Given the description of an element on the screen output the (x, y) to click on. 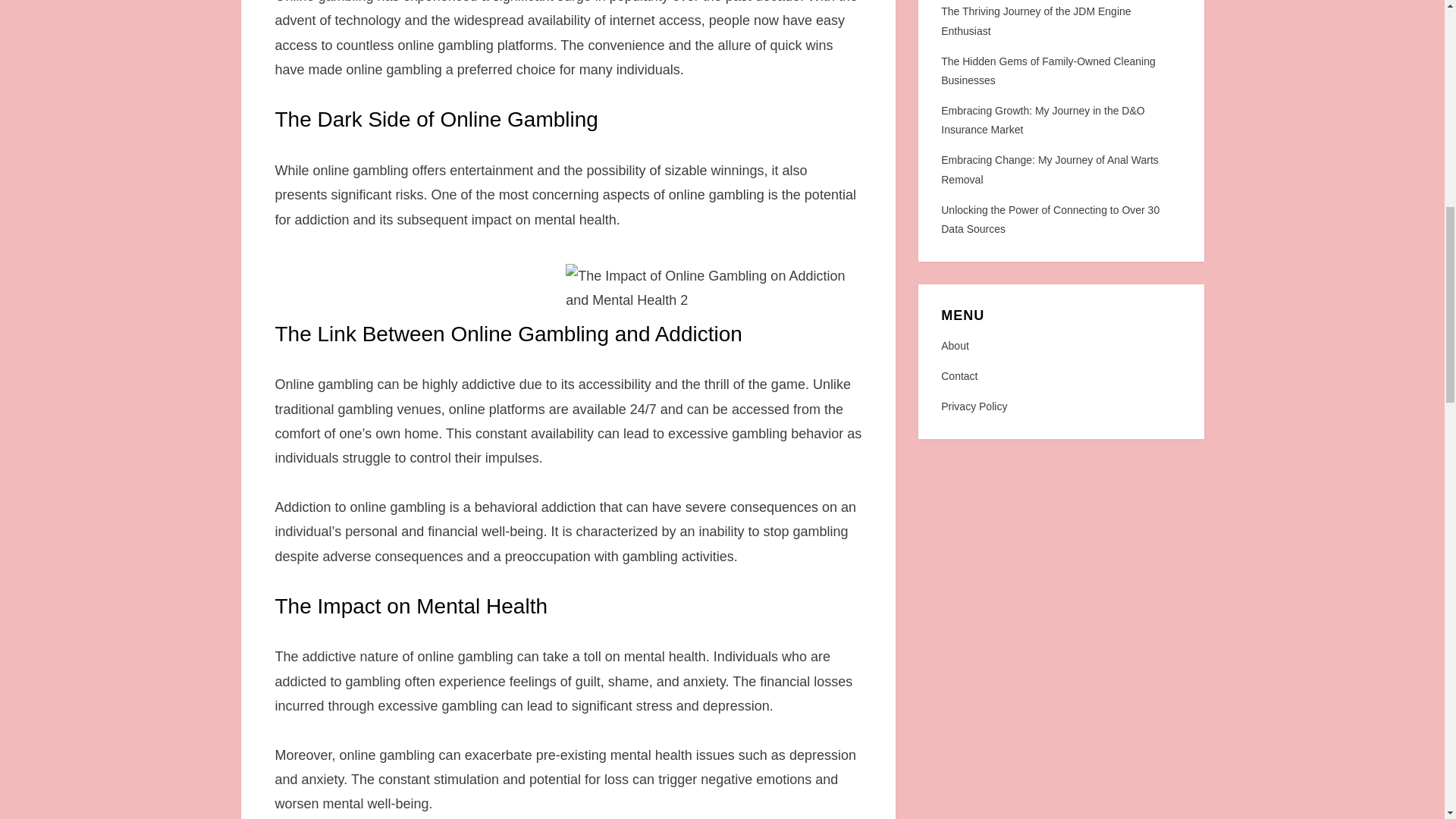
About (1060, 345)
The Thriving Journey of the JDM Engine Enthusiast (1035, 20)
Privacy Policy (1060, 406)
The Hidden Gems of Family-Owned Cleaning Businesses (1047, 70)
Unlocking the Power of Connecting to Over 30 Data Sources (1049, 219)
Contact (1060, 375)
Embracing Change: My Journey of Anal Warts Removal (1049, 169)
